Given the description of an element on the screen output the (x, y) to click on. 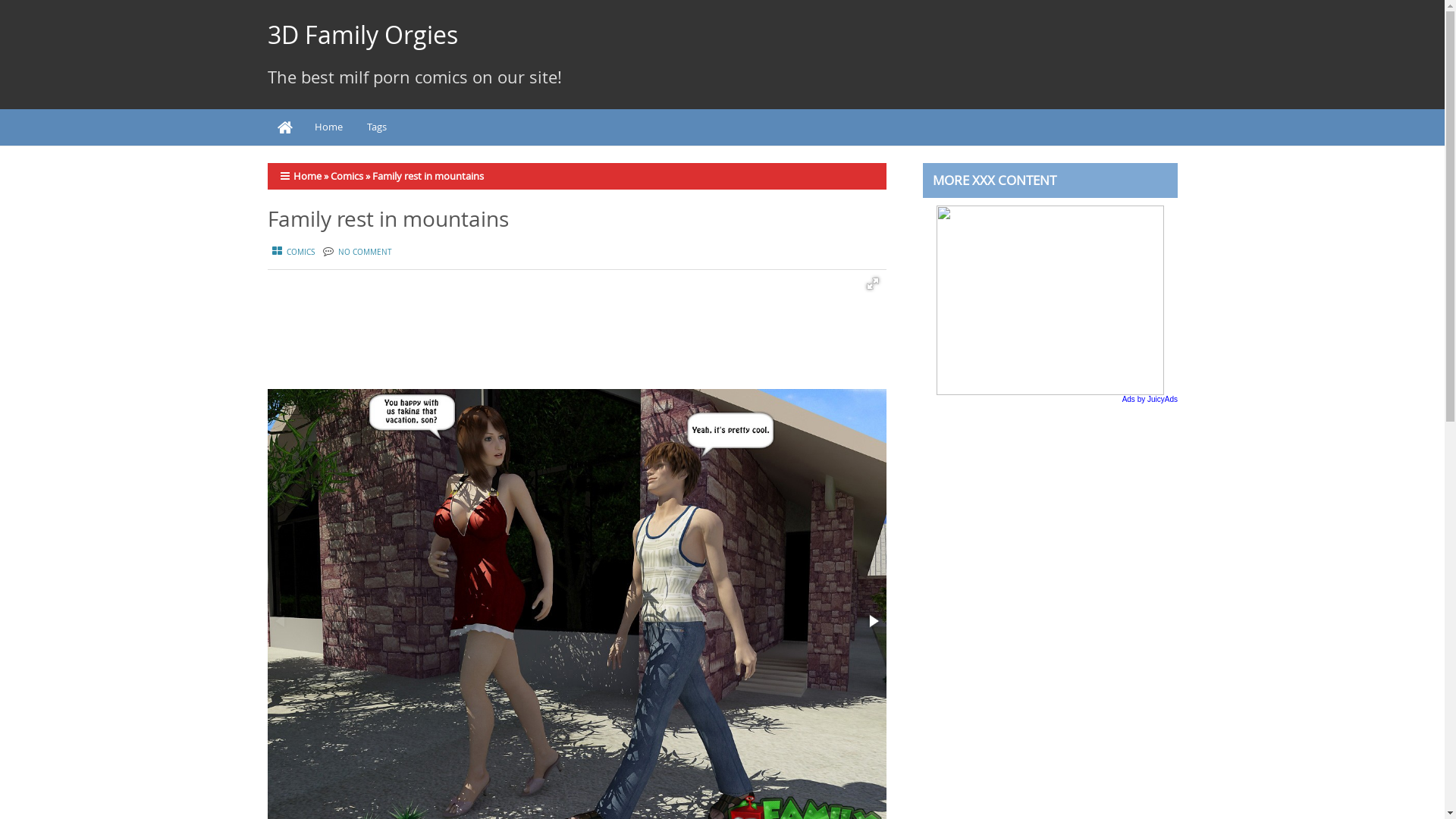
3D Family Orgies Element type: text (361, 34)
COMICS Element type: text (289, 252)
Home Element type: text (327, 127)
Home Element type: text (306, 175)
Home Element type: hover (283, 127)
NO COMMENT Element type: text (365, 252)
Tags Element type: text (376, 127)
Comics Element type: text (346, 175)
